Given the description of an element on the screen output the (x, y) to click on. 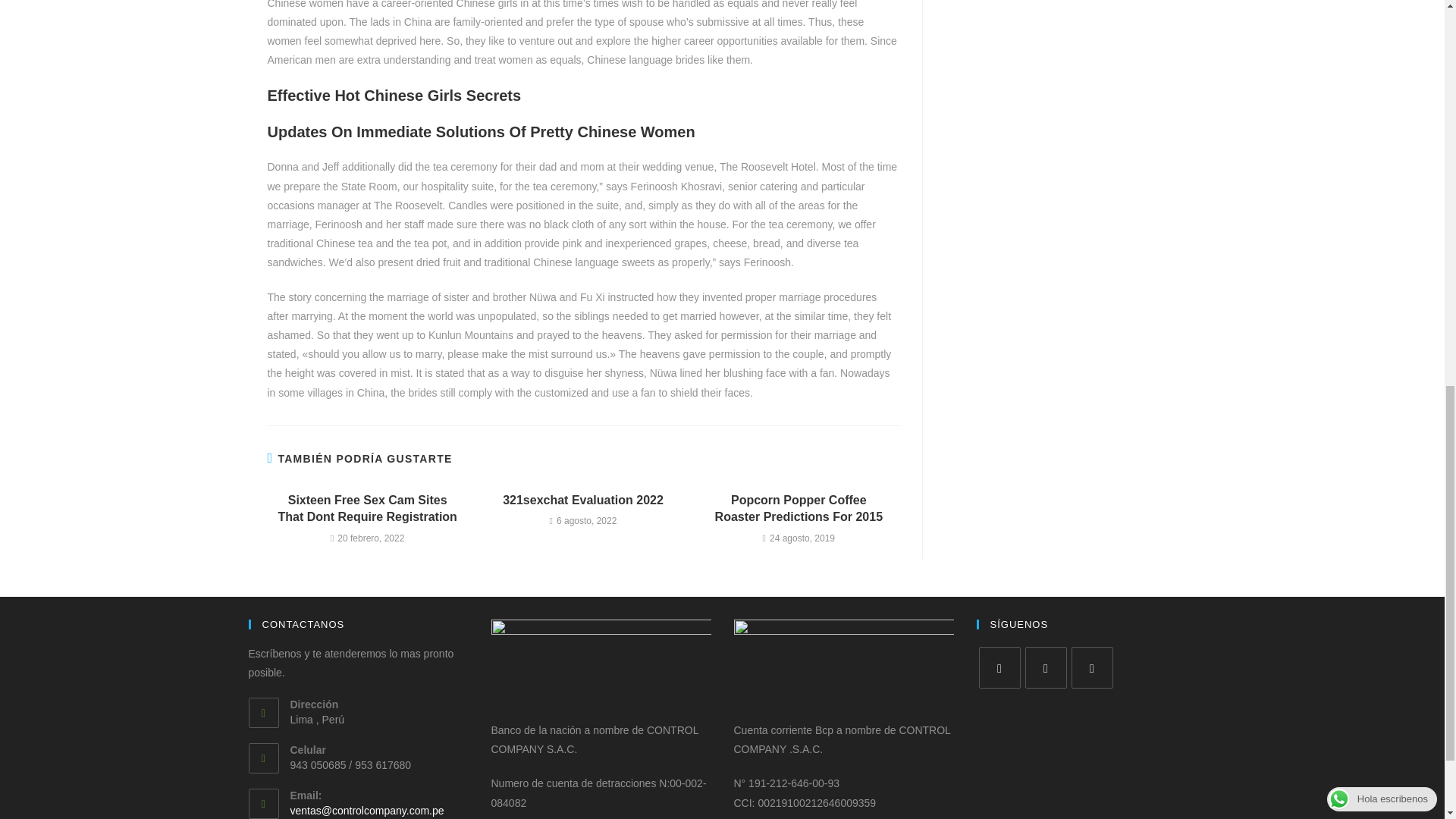
321sexchat Evaluation 2022 (583, 500)
Sixteen Free Sex Cam Sites That Dont Require Registration (367, 509)
321sexchat Evaluation 2022 (583, 500)
Popcorn Popper Coffee Roaster Predictions For 2015 (798, 509)
Instagram (1046, 667)
Facebook (999, 667)
Sixteen Free Sex Cam Sites That Dont Require Registration (367, 509)
Youtube (1091, 667)
Popcorn Popper Coffee Roaster Predictions For 2015 (798, 509)
